Given the description of an element on the screen output the (x, y) to click on. 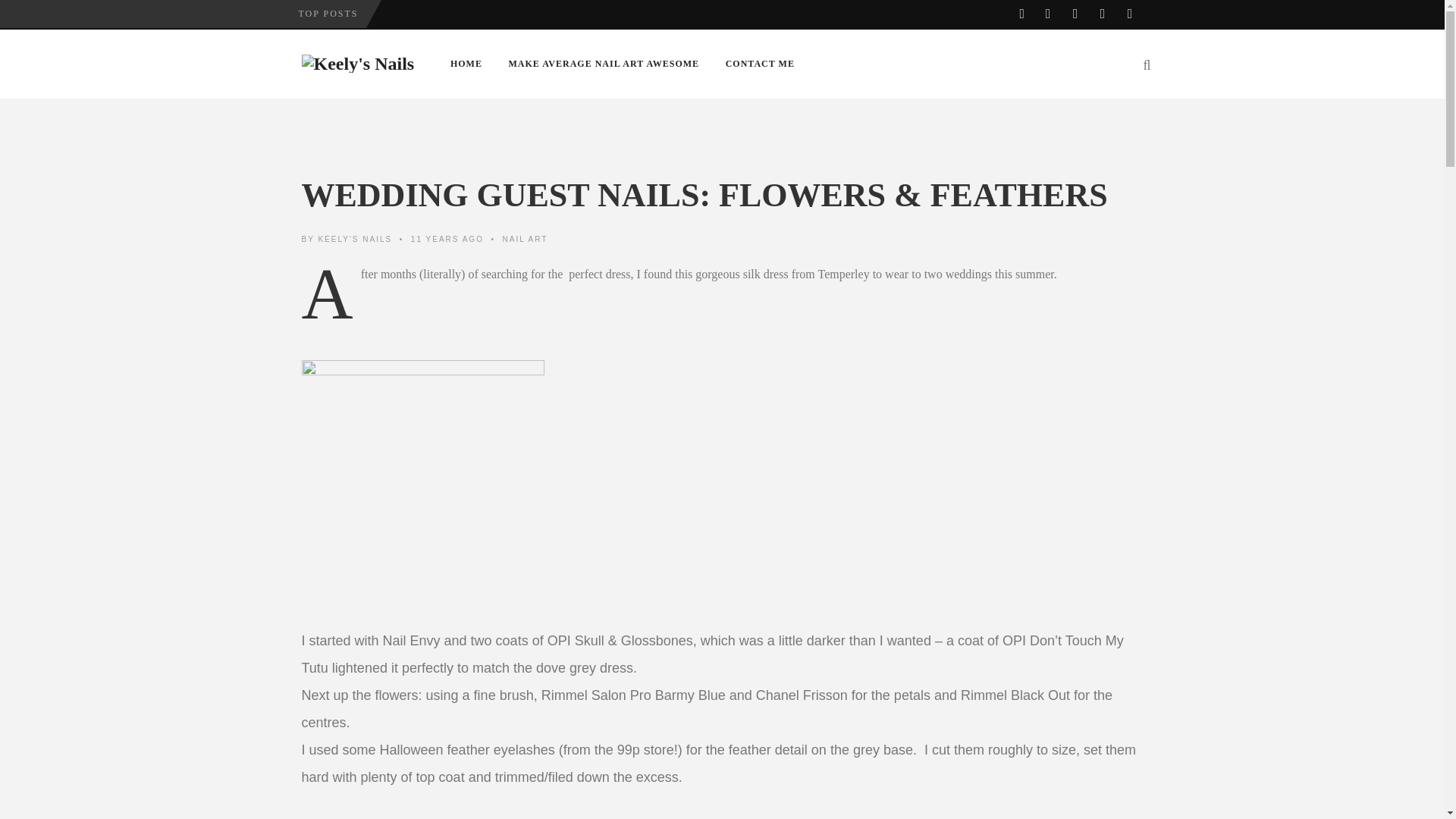
NAIL ART (525, 239)
More Nail Art Posts (525, 239)
KEELY'S NAILS (354, 239)
Posts by Keely's Nails (354, 239)
HOME (466, 63)
MAKE AVERAGE NAIL ART AWESOME (603, 63)
CONTACT ME (760, 63)
